Given the description of an element on the screen output the (x, y) to click on. 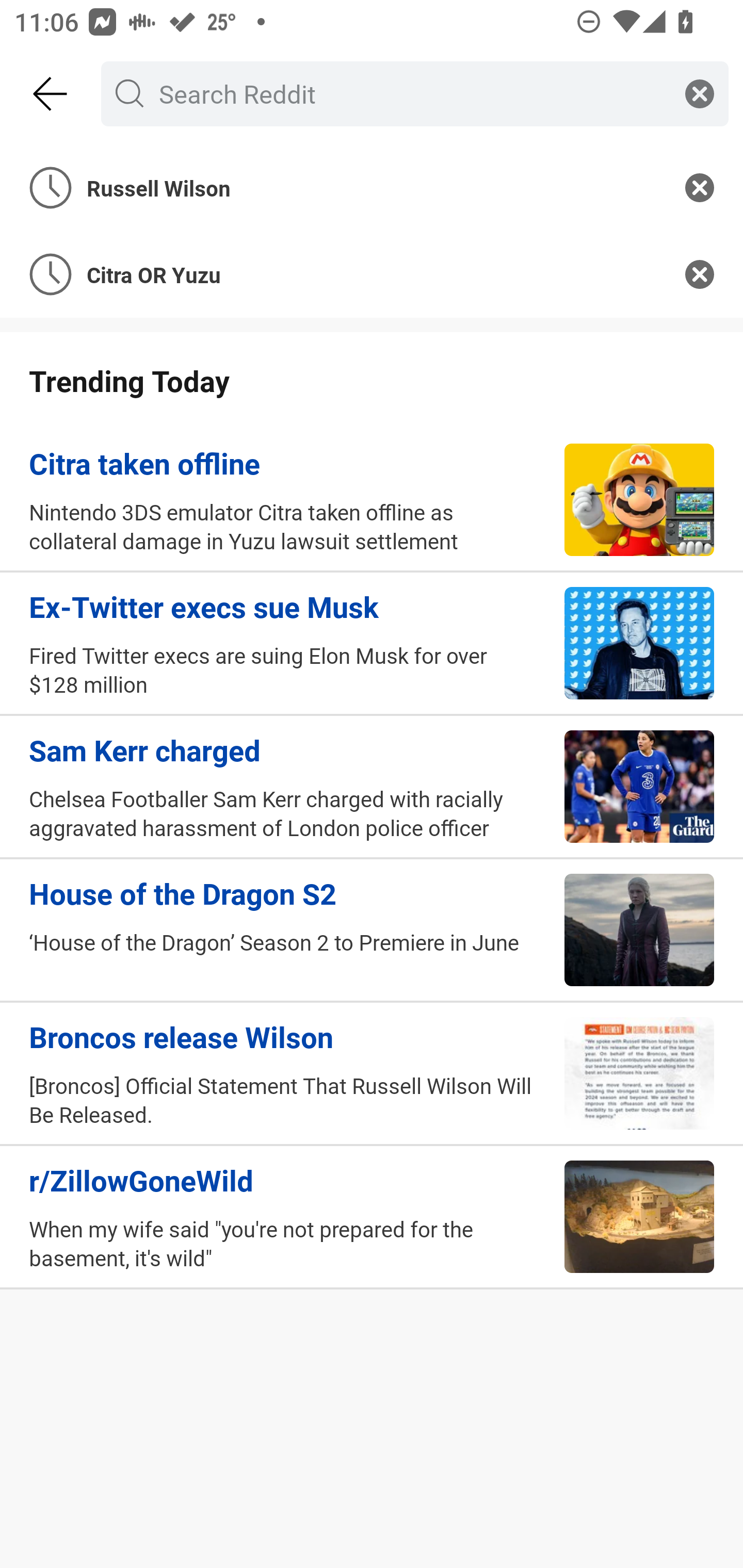
Back (50, 93)
Search Reddit (410, 93)
Clear search (699, 93)
Remove (699, 187)
Citra OR Yuzu Recent search: Citra OR Yuzu Remove (371, 274)
Remove (699, 274)
